Given the description of an element on the screen output the (x, y) to click on. 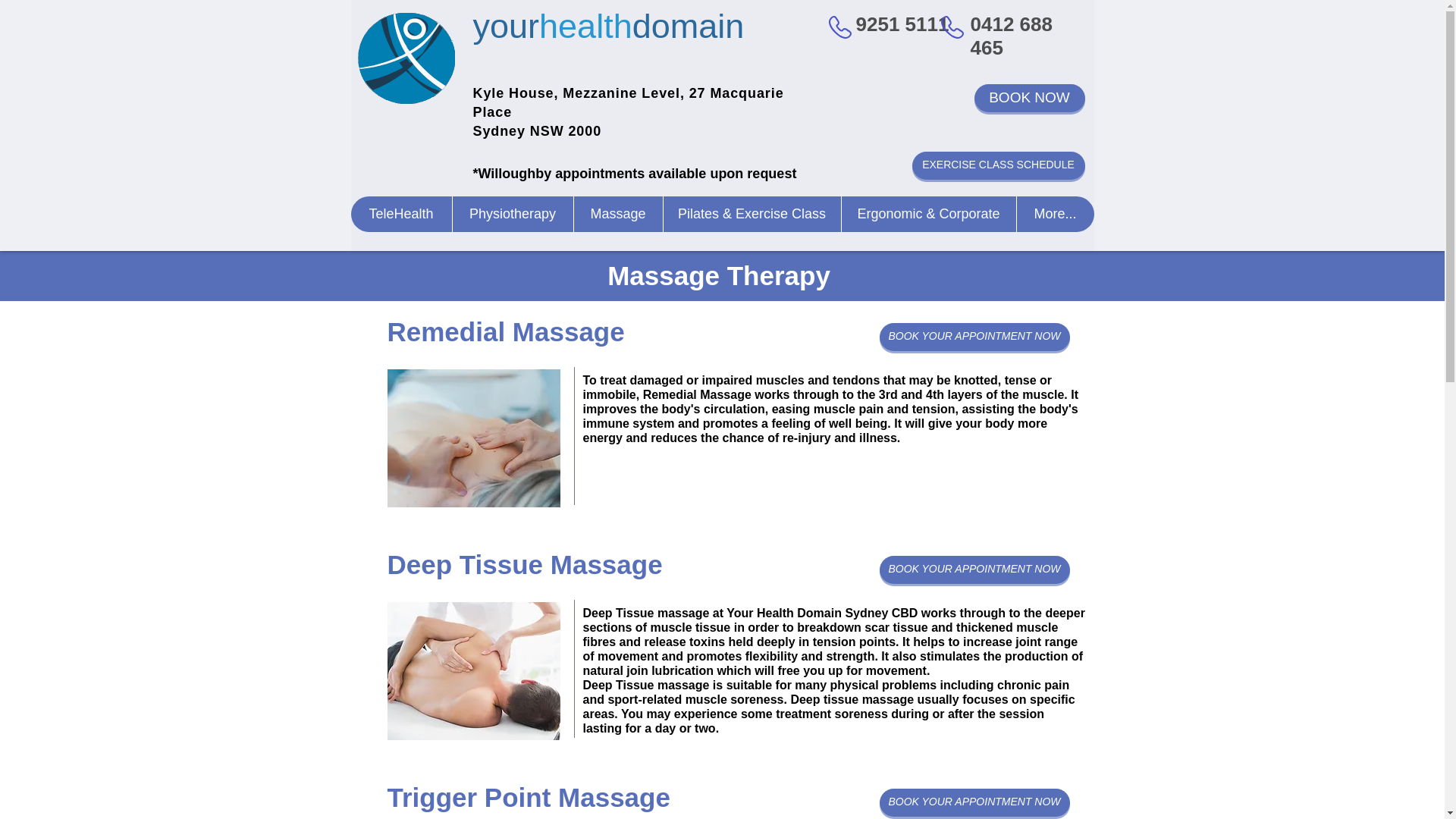
9251 5111 (902, 24)
BOOK NOW (1029, 98)
Physiotherapy (512, 213)
EXERCISE CLASS SCHEDULE (997, 165)
Massage (617, 213)
0412 688 465 (1011, 35)
BOOK YOUR APPOINTMENT NOW (974, 569)
BOOK YOUR APPOINTMENT NOW (974, 802)
BOOK YOUR APPOINTMENT NOW (974, 336)
